Given the description of an element on the screen output the (x, y) to click on. 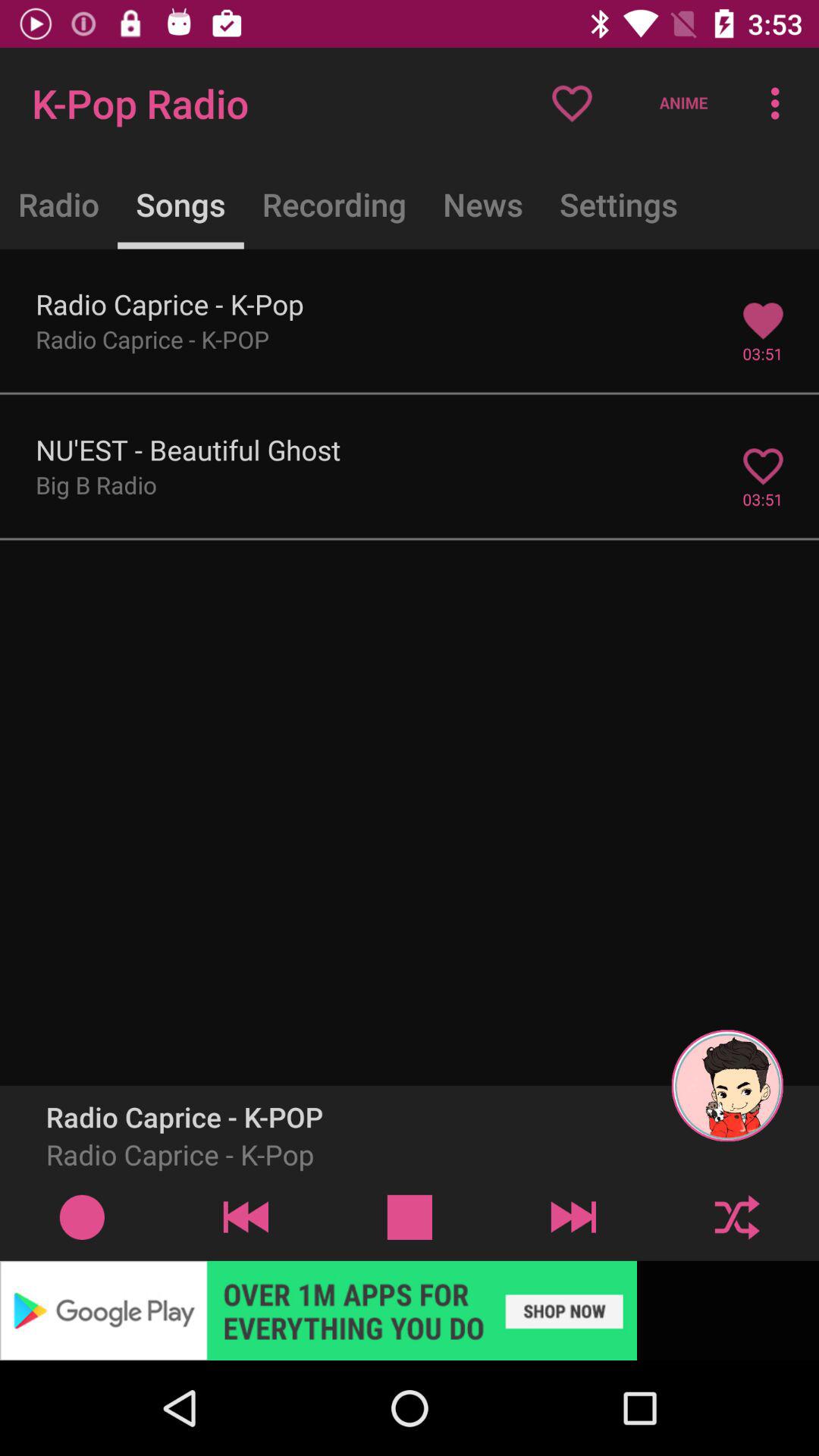
stop (409, 1216)
